Given the description of an element on the screen output the (x, y) to click on. 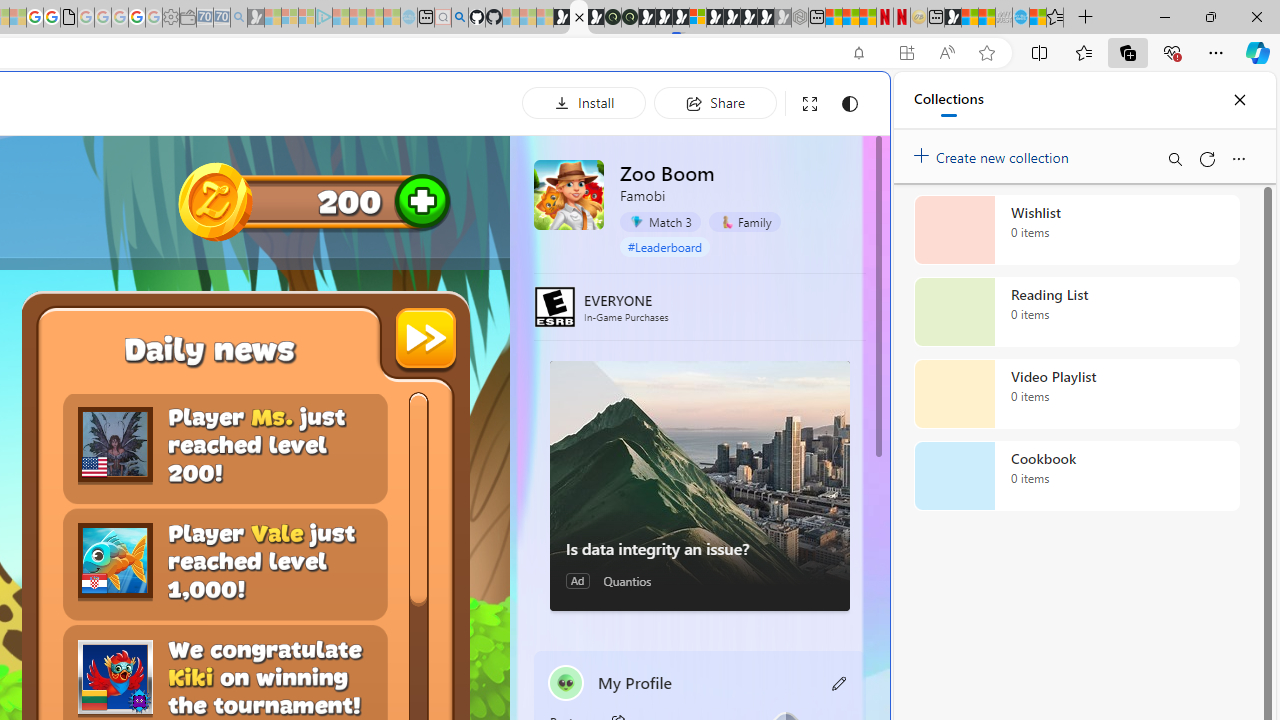
Family (744, 221)
Cookbook collection, 0 items (1076, 475)
EVERYONE (554, 306)
github - Search (459, 17)
Family (744, 222)
Wishlist collection, 0 items (1076, 229)
Home | Sky Blue Bikes - Sky Blue Bikes (687, 426)
